Given the description of an element on the screen output the (x, y) to click on. 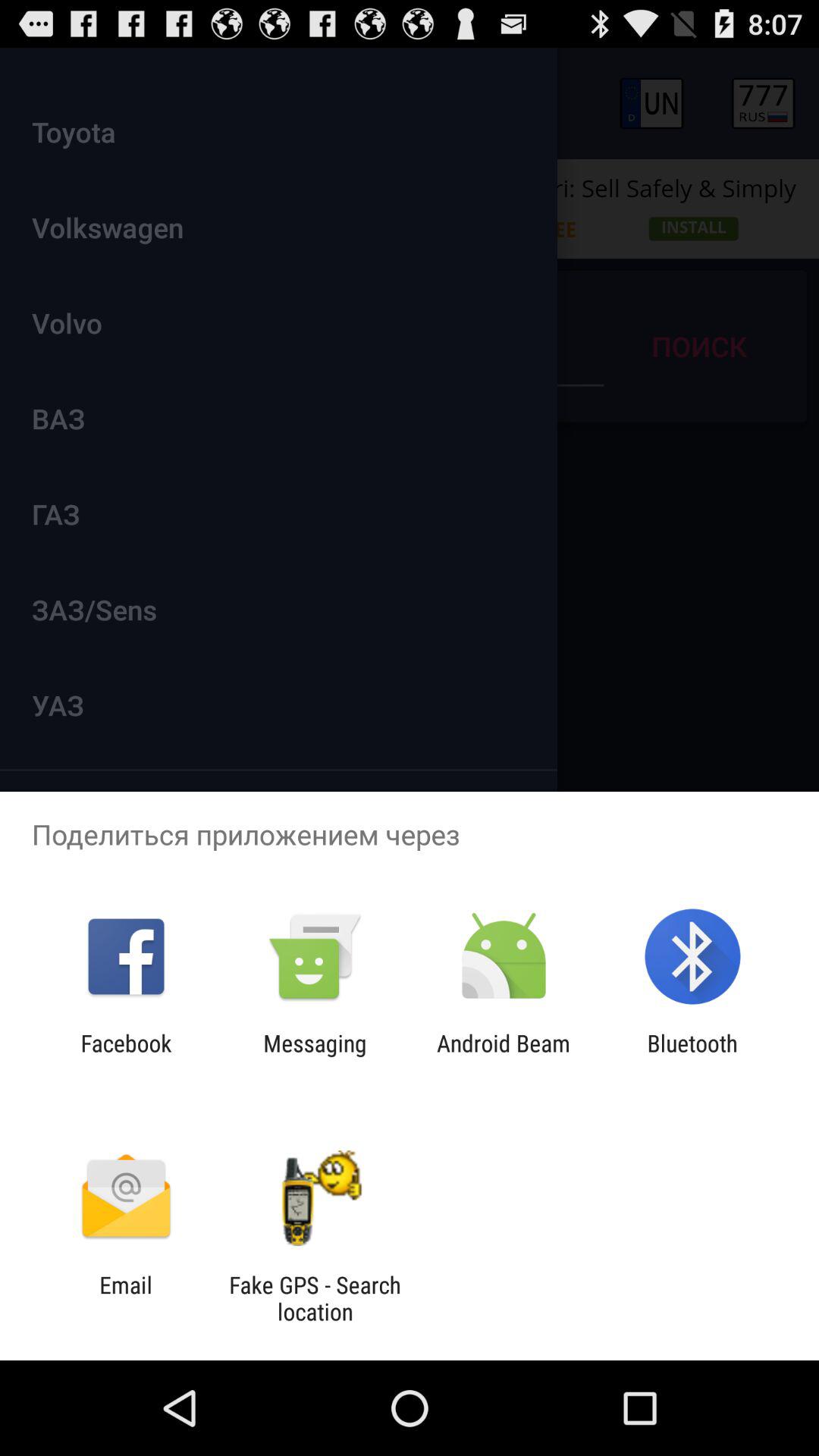
launch android beam item (503, 1056)
